Given the description of an element on the screen output the (x, y) to click on. 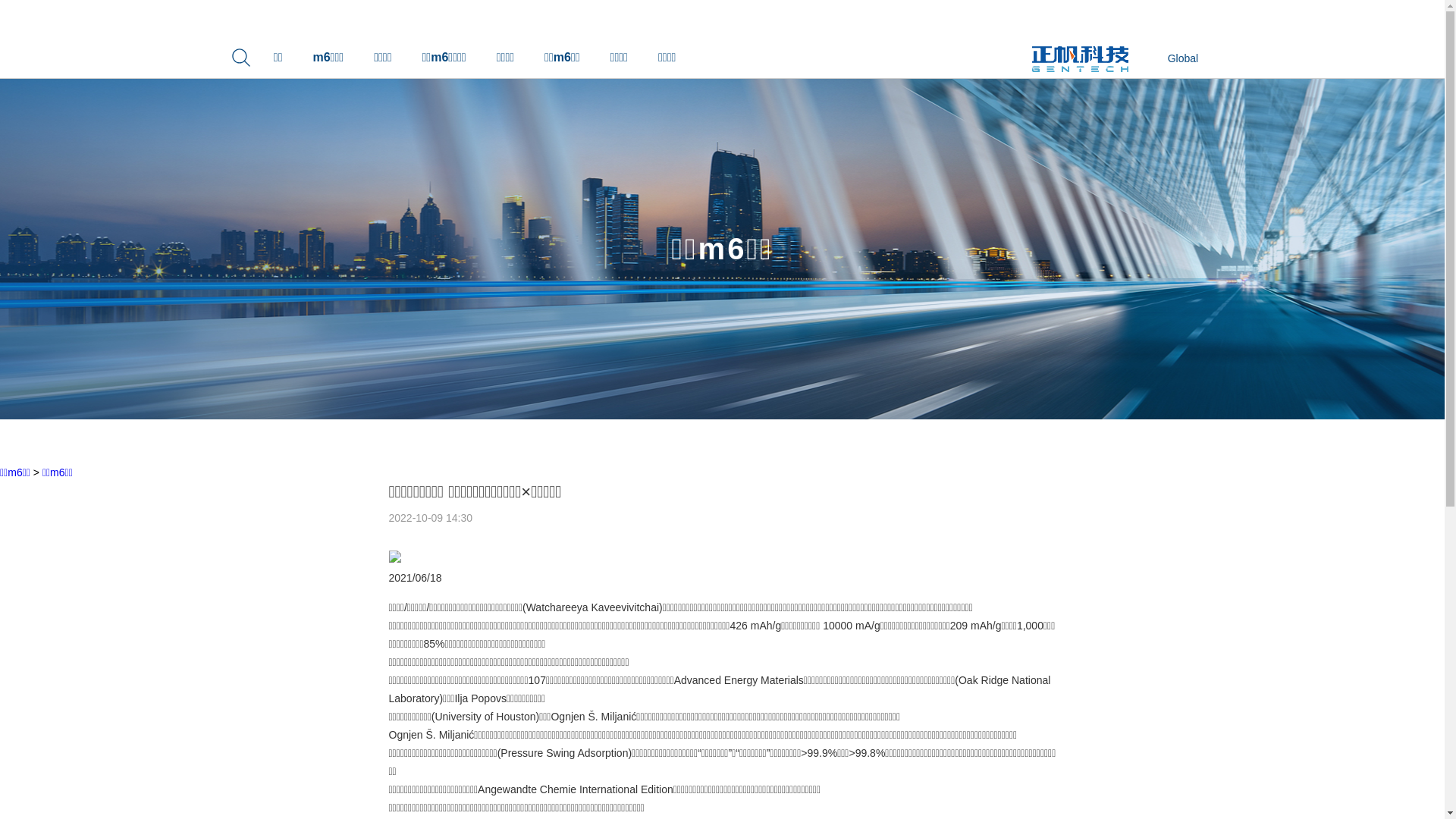
Global Element type: text (1179, 58)
